Given the description of an element on the screen output the (x, y) to click on. 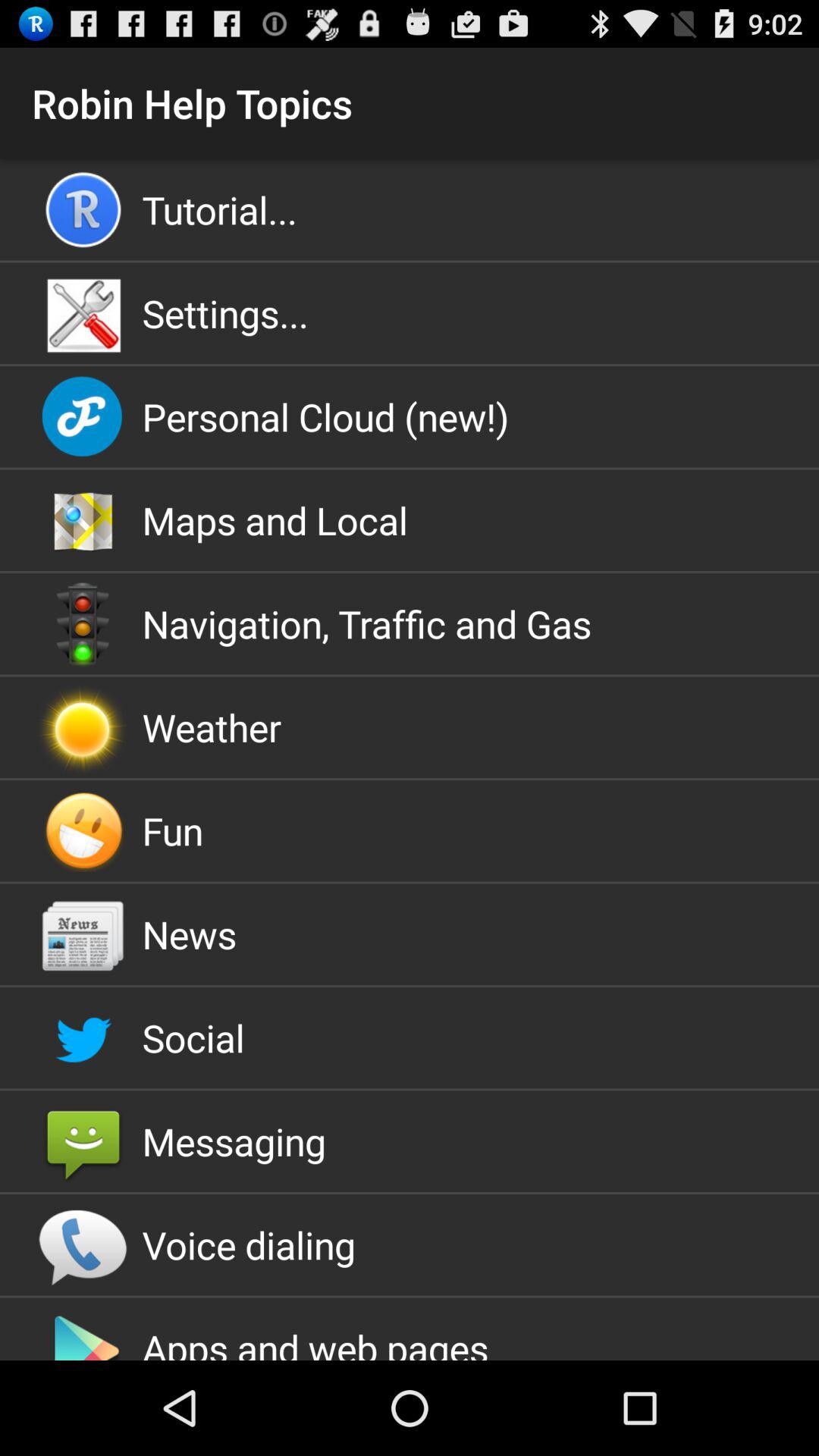
open the item above the  messaging icon (409, 1037)
